Given the description of an element on the screen output the (x, y) to click on. 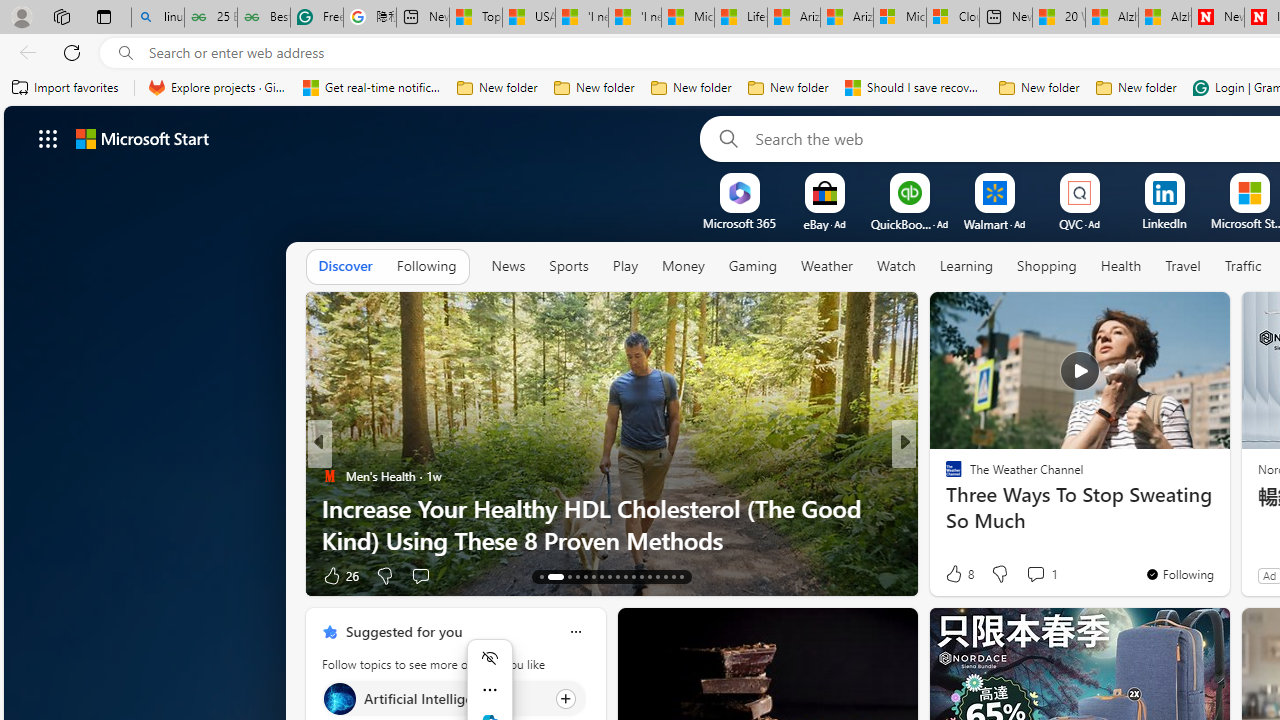
AutomationID: tab-13 (541, 576)
Newsweek - News, Analysis, Politics, Business, Technology (1217, 17)
You're following The Weather Channel (1179, 573)
222 Like (959, 574)
26 Like (340, 574)
View comments 65 Comment (1036, 575)
8 Like (957, 574)
View comments 1 Comment (1041, 574)
AutomationID: tab-25 (649, 576)
The Manual (944, 475)
View comments 65 Comment (1044, 574)
Hide menu (490, 657)
